Given the description of an element on the screen output the (x, y) to click on. 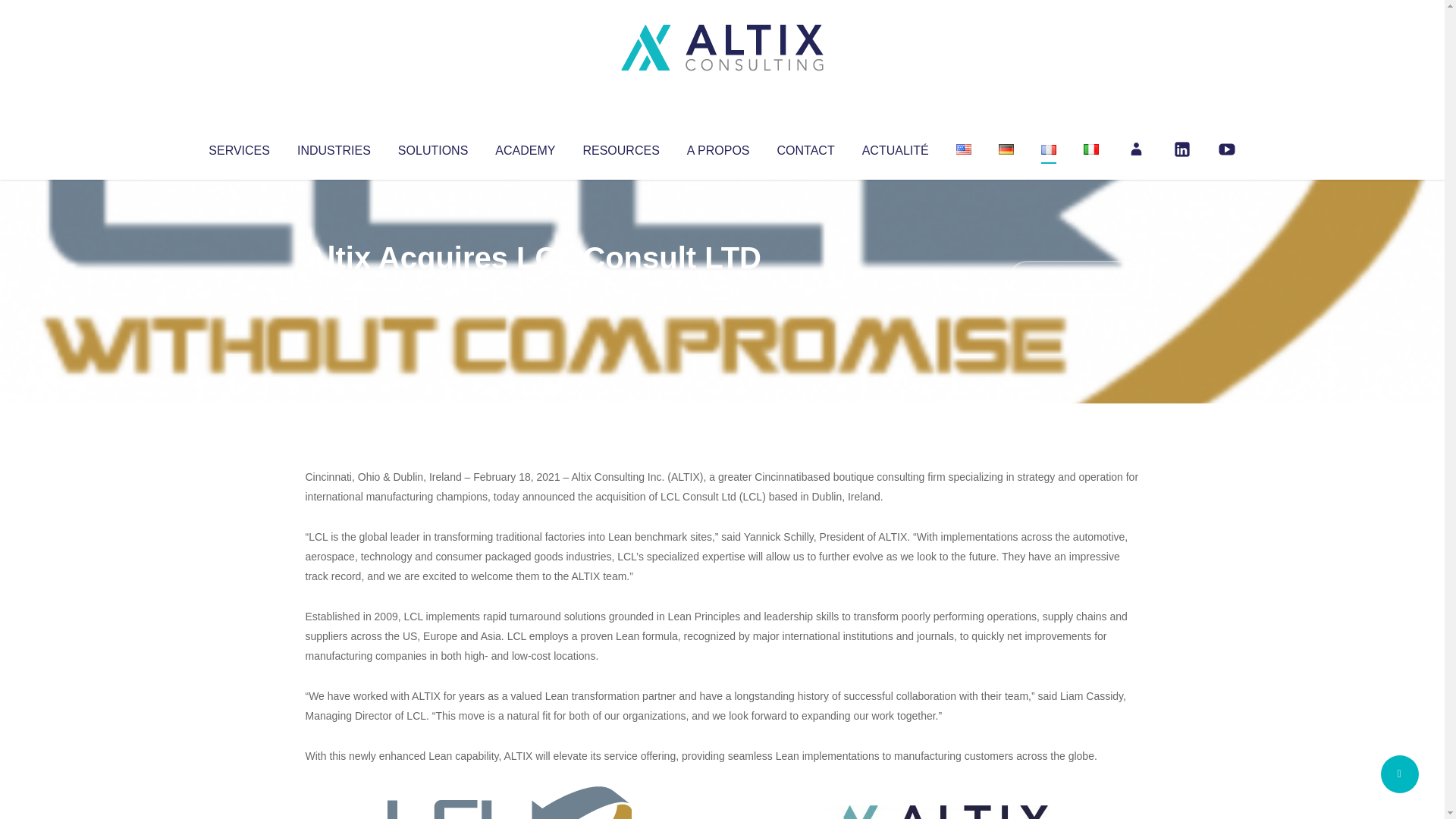
SOLUTIONS (432, 146)
Altix (333, 287)
Uncategorized (530, 287)
INDUSTRIES (334, 146)
A PROPOS (718, 146)
Articles par Altix (333, 287)
SERVICES (238, 146)
No Comments (1073, 278)
RESOURCES (620, 146)
ACADEMY (524, 146)
